Given the description of an element on the screen output the (x, y) to click on. 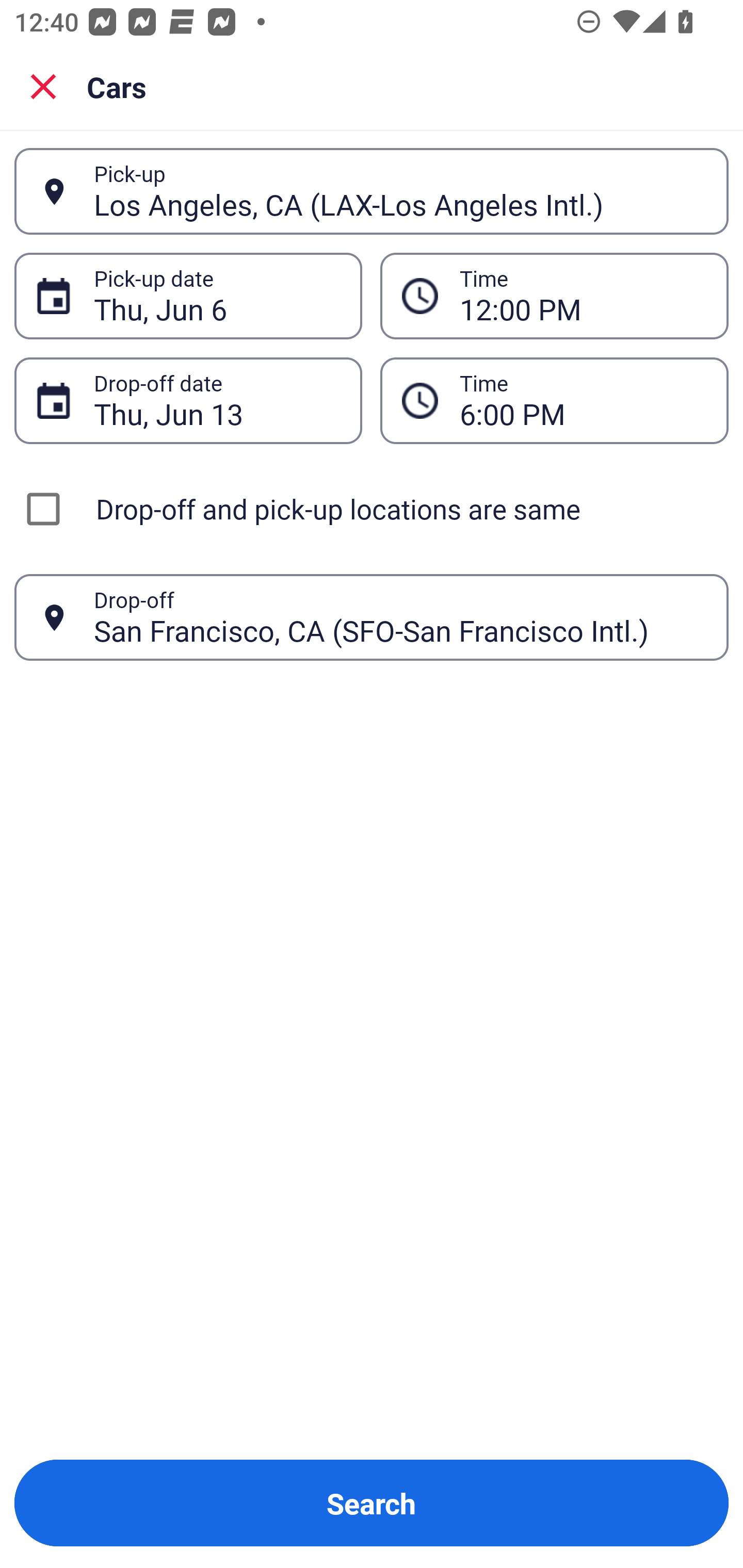
Close search screen (43, 86)
Los Angeles, CA (LAX-Los Angeles Intl.) Pick-up (371, 191)
Los Angeles, CA (LAX-Los Angeles Intl.) (399, 191)
Thu, Jun 6 Pick-up date (188, 295)
12:00 PM (554, 295)
Thu, Jun 6 (216, 296)
12:00 PM (582, 296)
Thu, Jun 13 Drop-off date (188, 400)
6:00 PM (554, 400)
Thu, Jun 13 (216, 400)
6:00 PM (582, 400)
Drop-off and pick-up locations are same (371, 508)
San Francisco, CA (SFO-San Francisco Intl.) (399, 616)
Search Button Search (371, 1502)
